Given the description of an element on the screen output the (x, y) to click on. 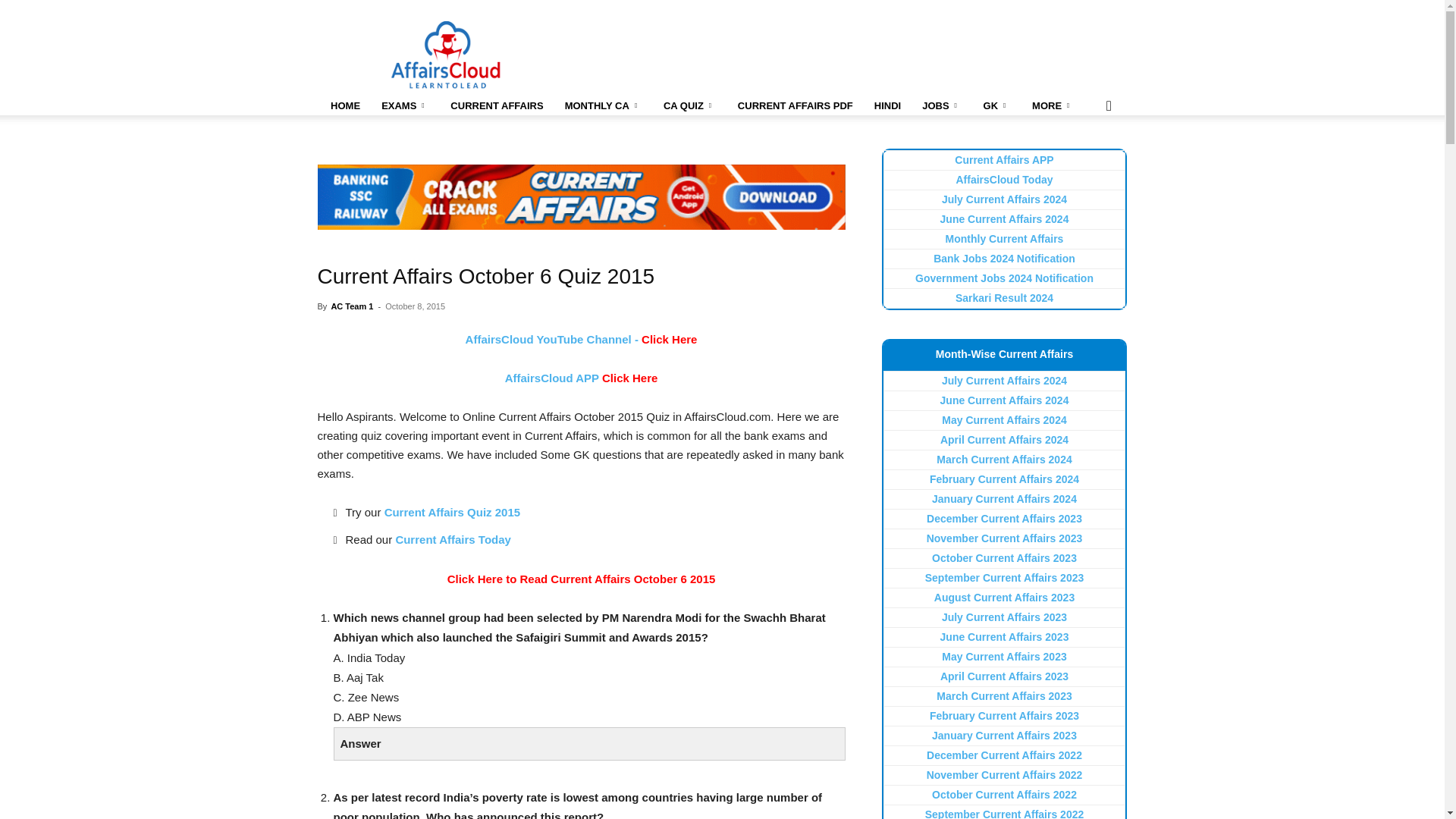
Current Affairs (496, 105)
Current Affairs Quiz (689, 105)
Current Affairs Hindi (887, 105)
Home (344, 105)
Current Affairs PDF (794, 105)
AffairsCloud (446, 55)
